Given the description of an element on the screen output the (x, y) to click on. 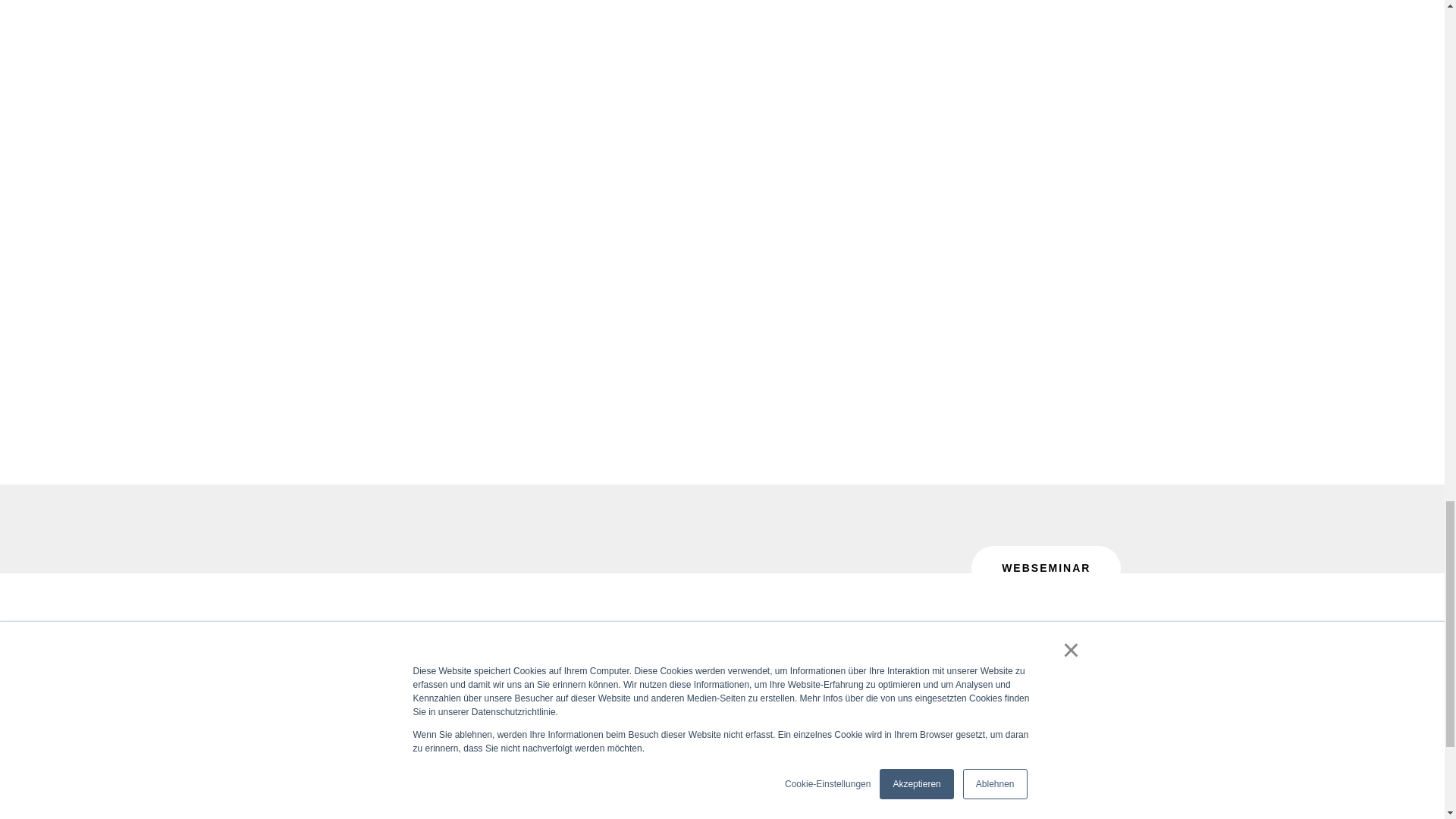
WP Human (332, 646)
